Given the description of an element on the screen output the (x, y) to click on. 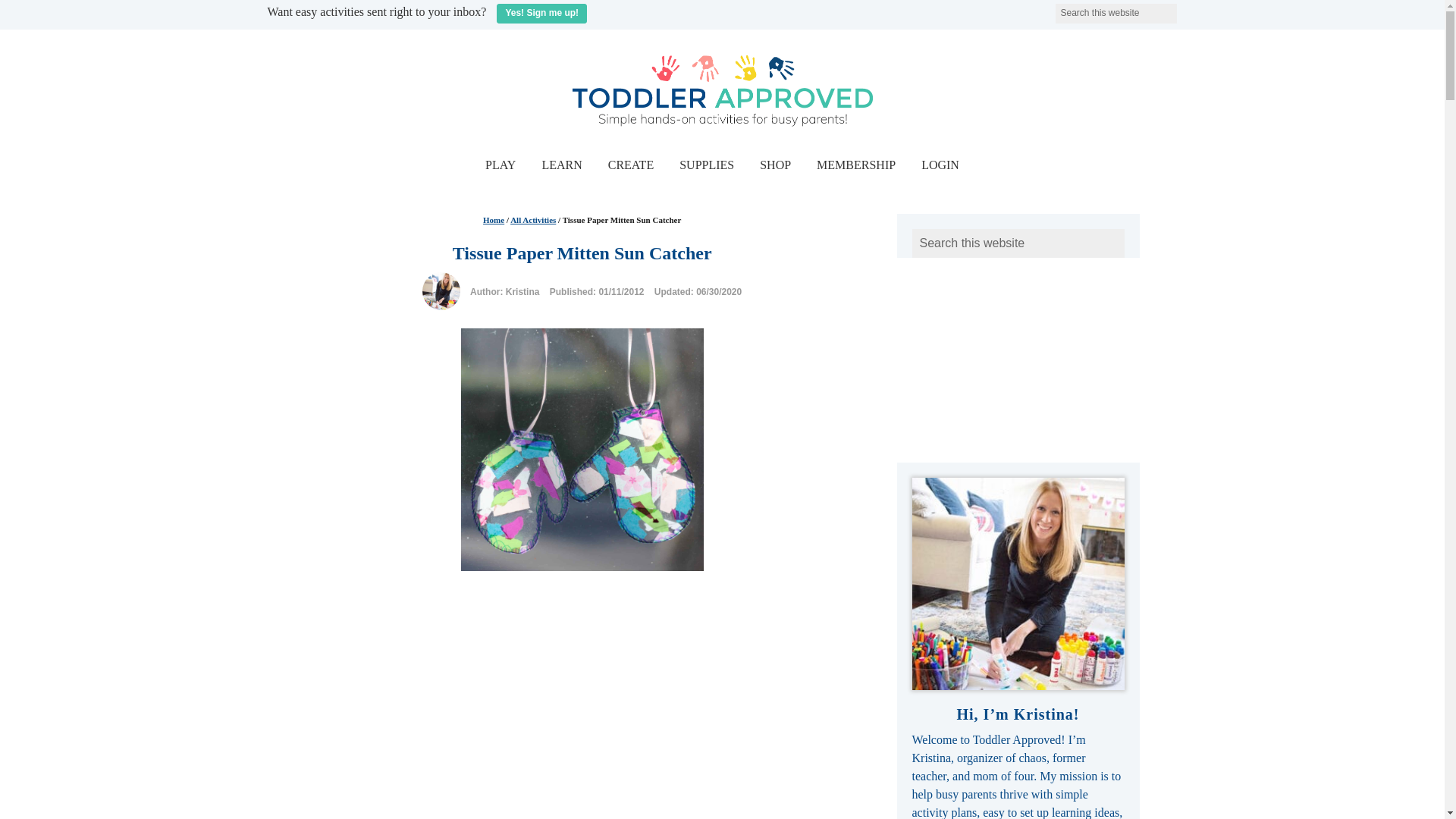
Search (1185, 8)
Yes! Sign me up! (541, 13)
Search (1185, 8)
Search (1185, 8)
